Given the description of an element on the screen output the (x, y) to click on. 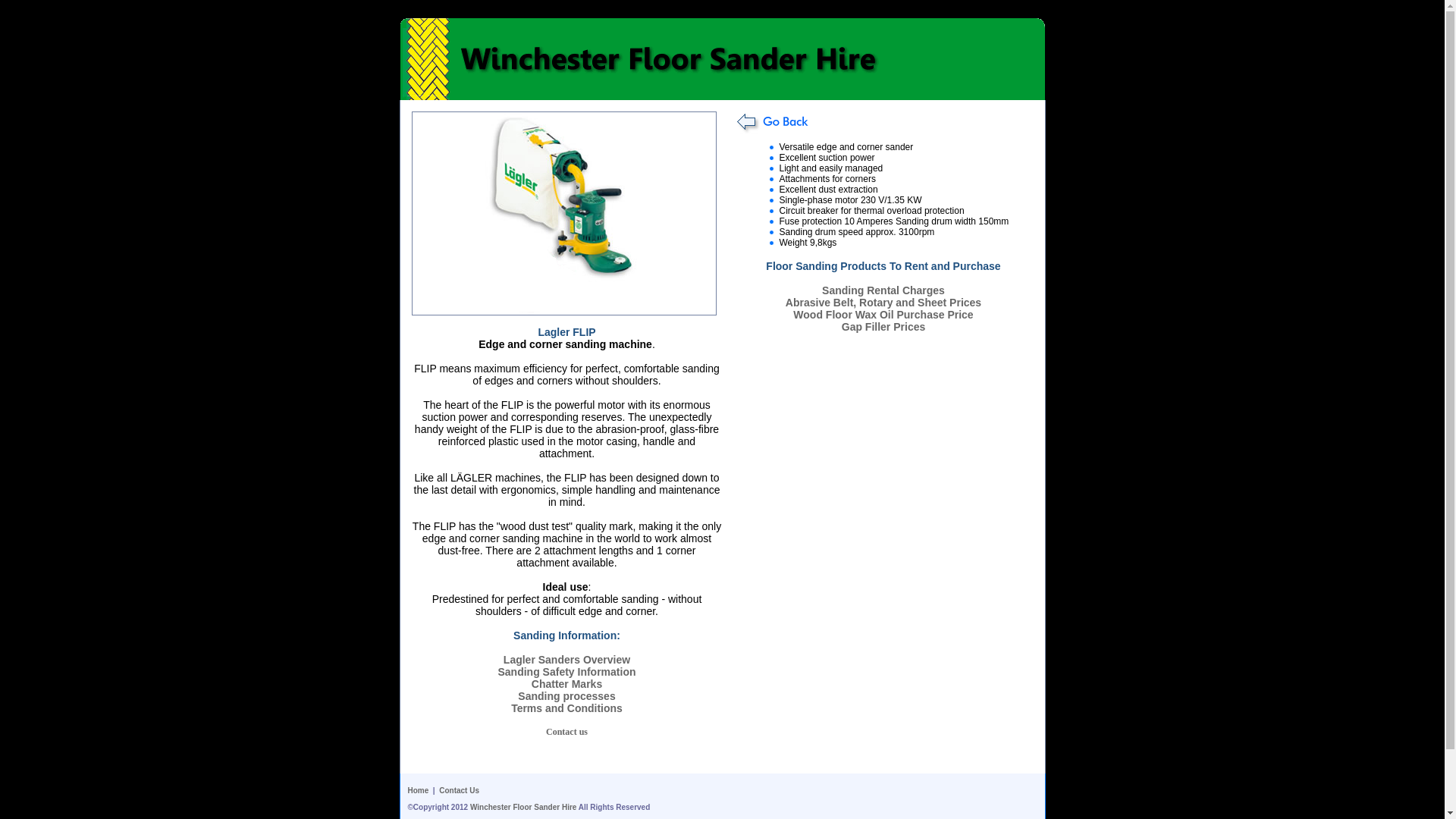
Gap fillers for wood floors (883, 326)
Sanding wood floors chatter marks (566, 684)
Winchester Floor Sander Hire (523, 807)
Sanding machine hire costs (883, 290)
Terms and conditions for hiring sanders (567, 707)
Wood floor abrasive prices (883, 302)
Abrasive Belt, Rotary and Sheet Prices (883, 302)
Lagler Sanders Overview (566, 659)
Lagler Sanders Overview (566, 659)
Sanding Rental Charges (883, 290)
Wood Floor Wax Oil Purchase Price (882, 314)
Contact us (567, 731)
Sanding Machine Safety Information (565, 671)
Terms and Conditions (567, 707)
Contact Winchester Sanding Tool Hire (567, 731)
